Given the description of an element on the screen output the (x, y) to click on. 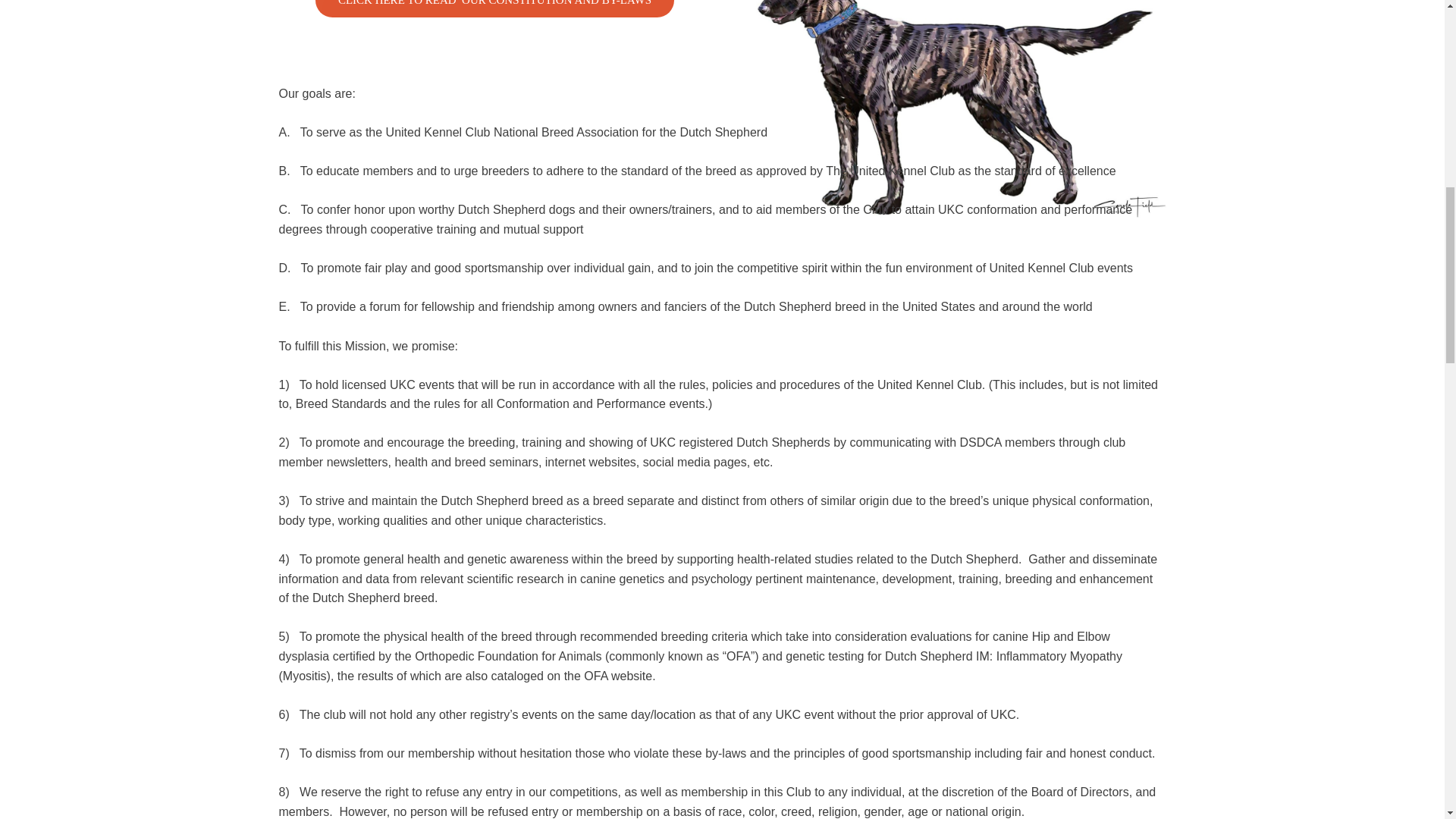
CLICK HERE TO READ OUR CONSTITUTION AND BY-LAWS (494, 8)
